Given the description of an element on the screen output the (x, y) to click on. 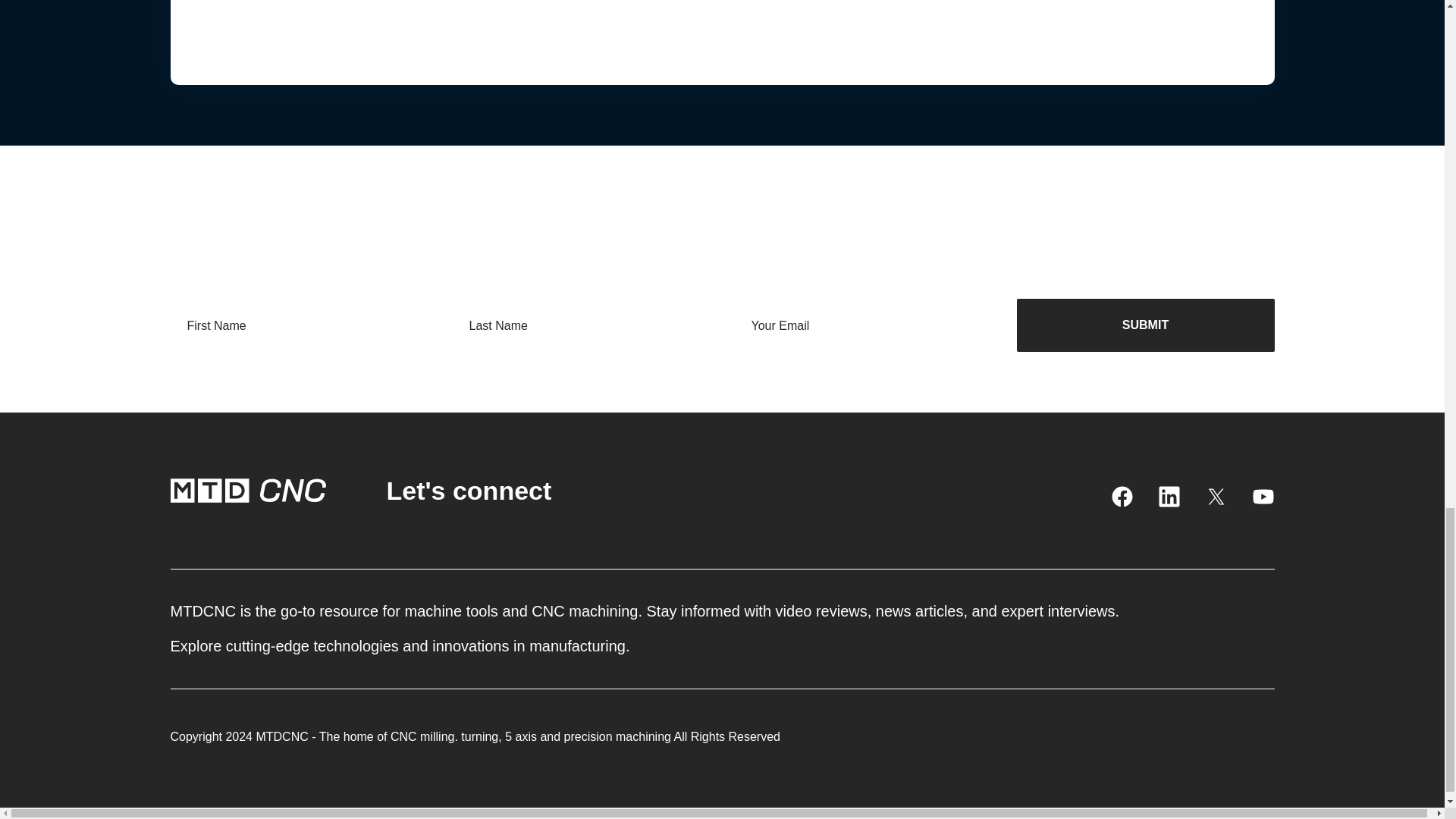
SUBMIT (1145, 325)
Go to X (1215, 496)
Go to LinkedIn (1168, 496)
Home (247, 490)
Go to Facebook (1120, 496)
Go to YouTube (1262, 496)
